Given the description of an element on the screen output the (x, y) to click on. 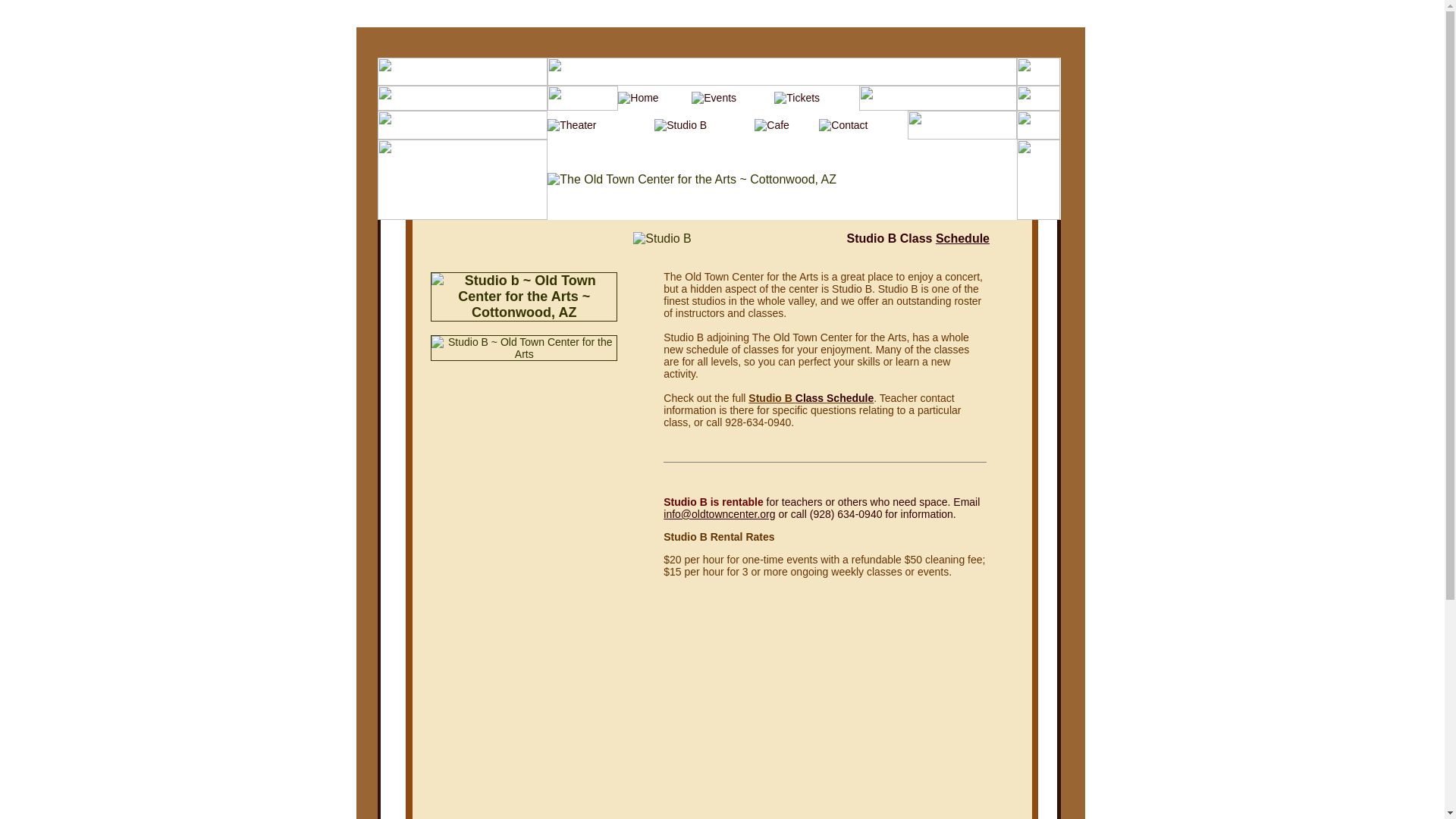
Studio B Class Schedule (918, 238)
or (783, 513)
Class Schedule (834, 398)
